Given the description of an element on the screen output the (x, y) to click on. 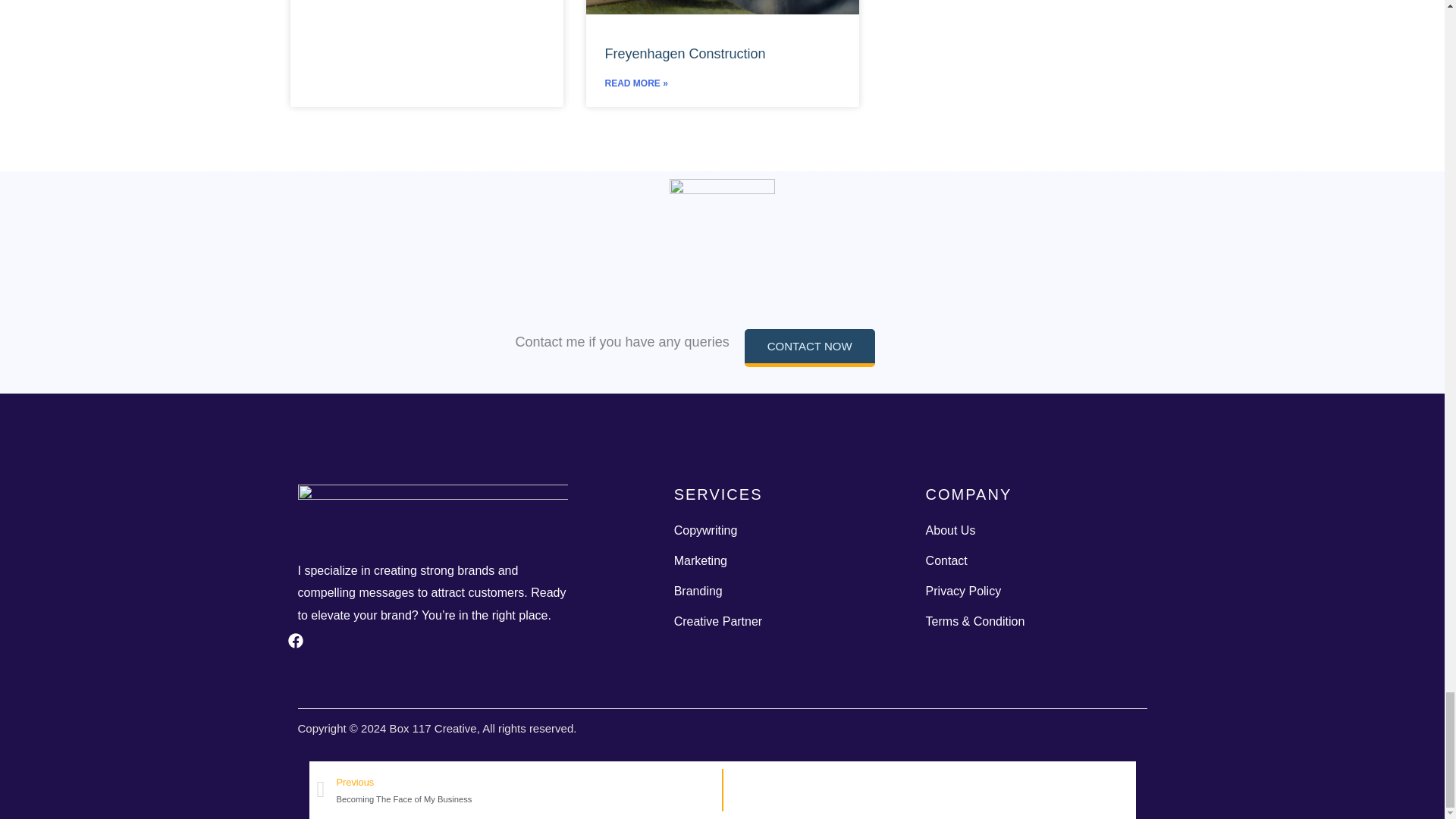
Facebook (304, 649)
CONTACT NOW (809, 347)
Freyenhagen Construction (685, 53)
Creative Partner (784, 621)
Copywriting (784, 530)
Contact (1036, 560)
Branding (784, 590)
About Us (1036, 530)
Marketing (784, 560)
Privacy Policy (1036, 590)
